Given the description of an element on the screen output the (x, y) to click on. 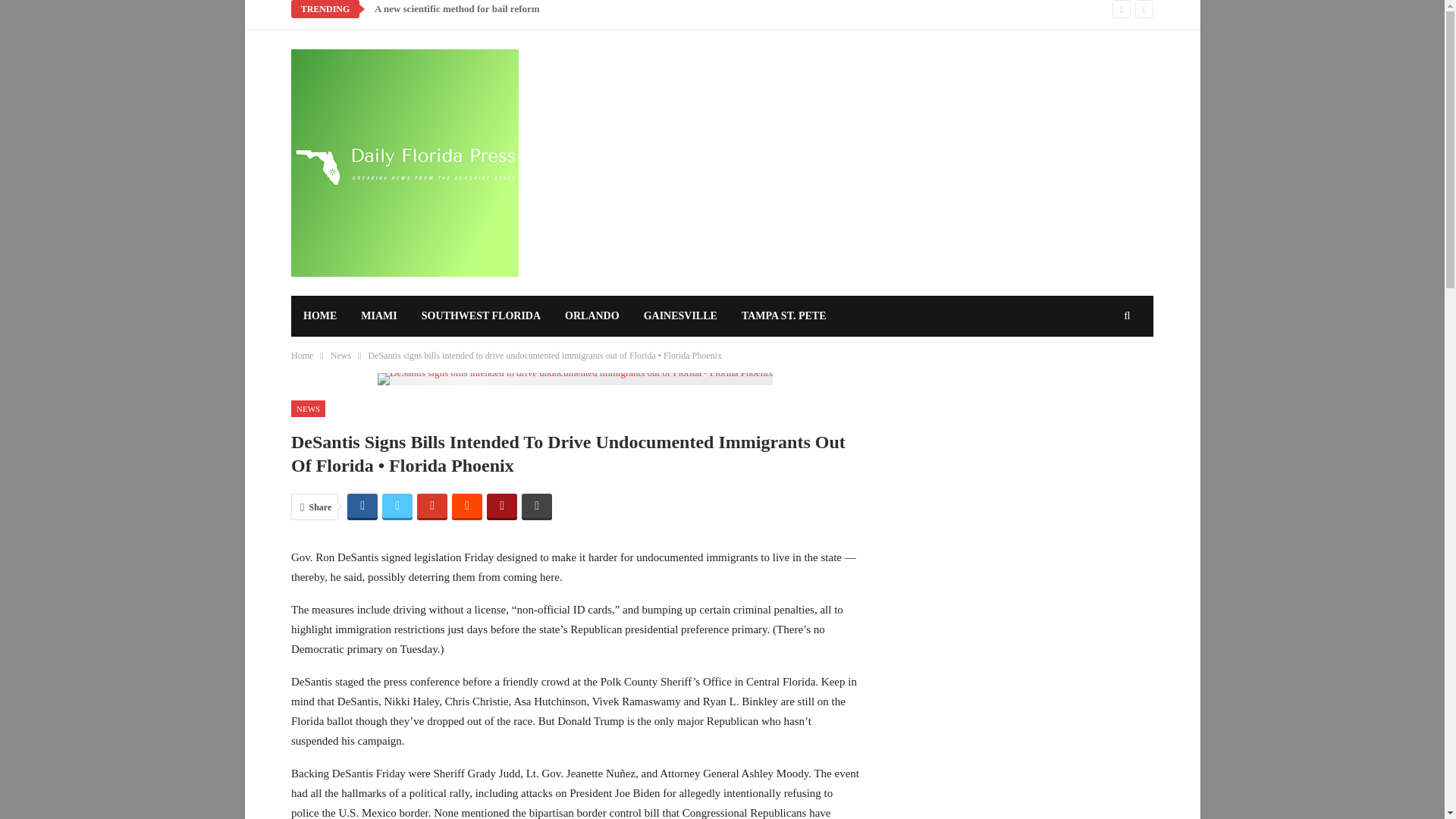
A new scientific method for bail reform (457, 8)
GAINESVILLE (680, 315)
ORLANDO (592, 315)
SOUTHWEST FLORIDA (481, 315)
TAMPA ST. PETE (783, 315)
MIAMI (379, 315)
Home (302, 355)
HOME (320, 315)
NEWS (307, 408)
News (340, 355)
